Given the description of an element on the screen output the (x, y) to click on. 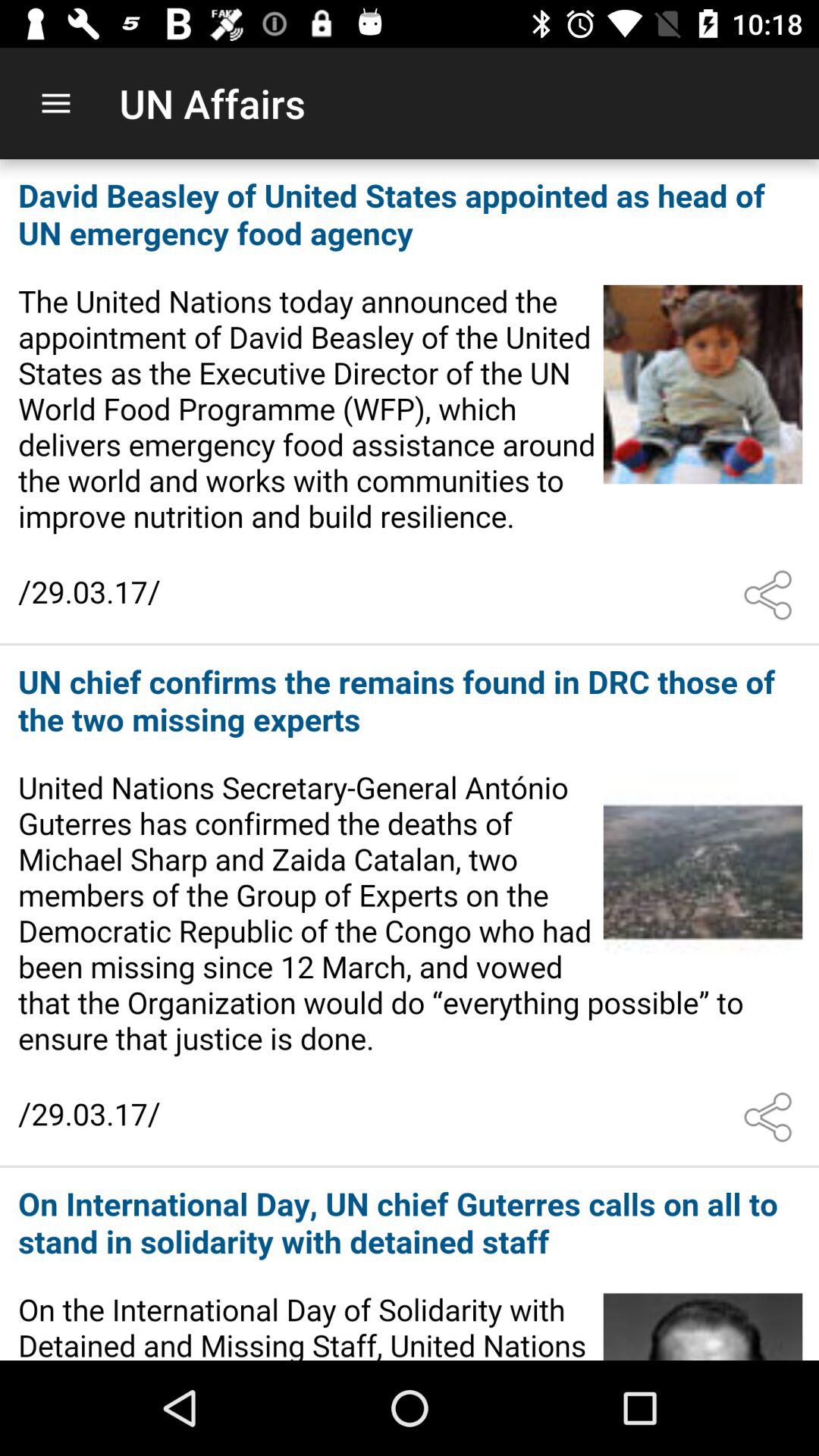
share (771, 1117)
